Given the description of an element on the screen output the (x, y) to click on. 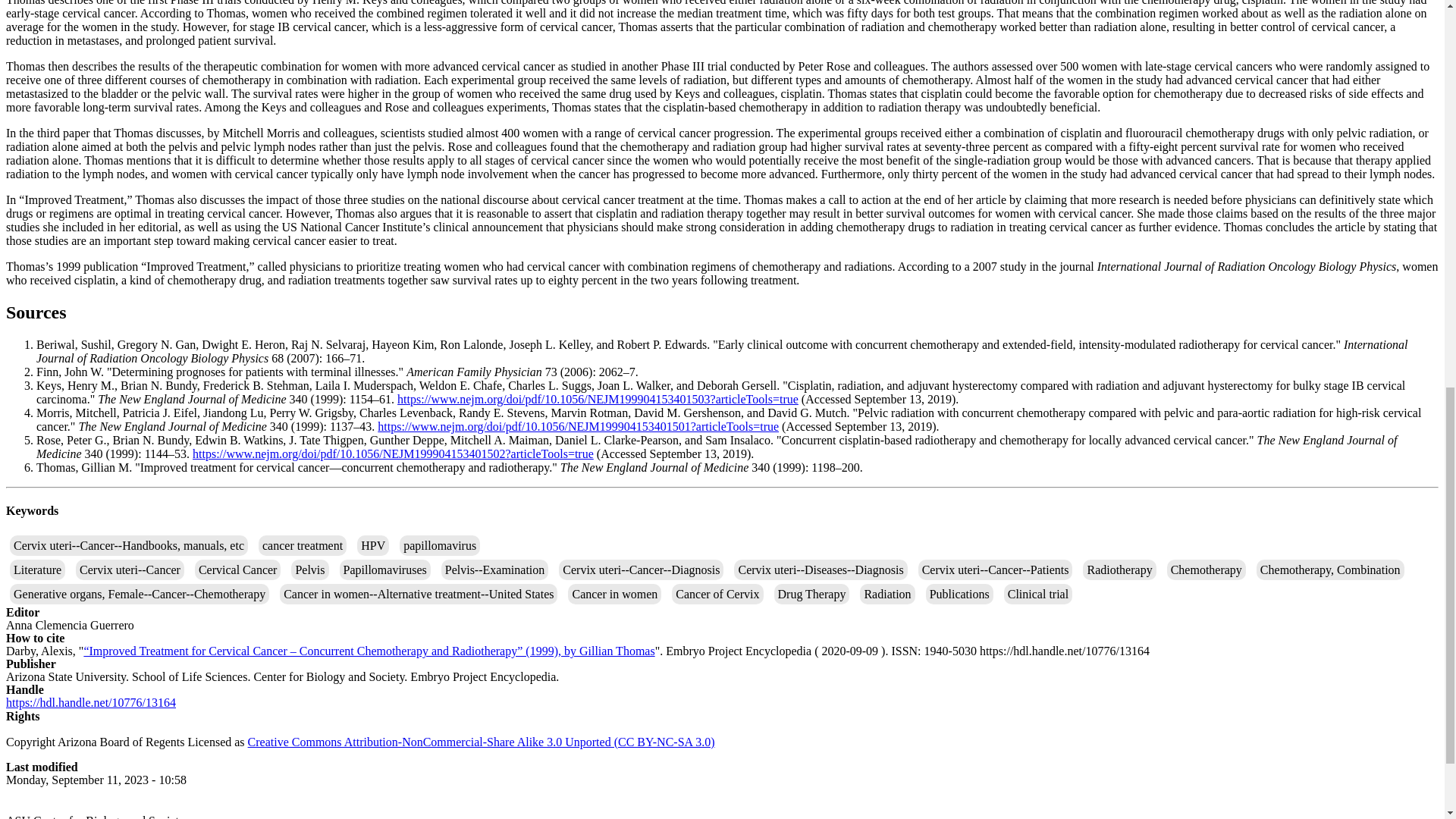
Chemotherapy (1206, 569)
Radiation (887, 593)
cancer treatment (302, 545)
Pelvis--Examination (494, 569)
Papillomaviruses (384, 569)
Cancer in women--Alternative treatment--United States (418, 593)
Cancer in women (614, 593)
Cervical Cancer (238, 569)
Publications (959, 593)
papillomavirus (439, 545)
